Given the description of an element on the screen output the (x, y) to click on. 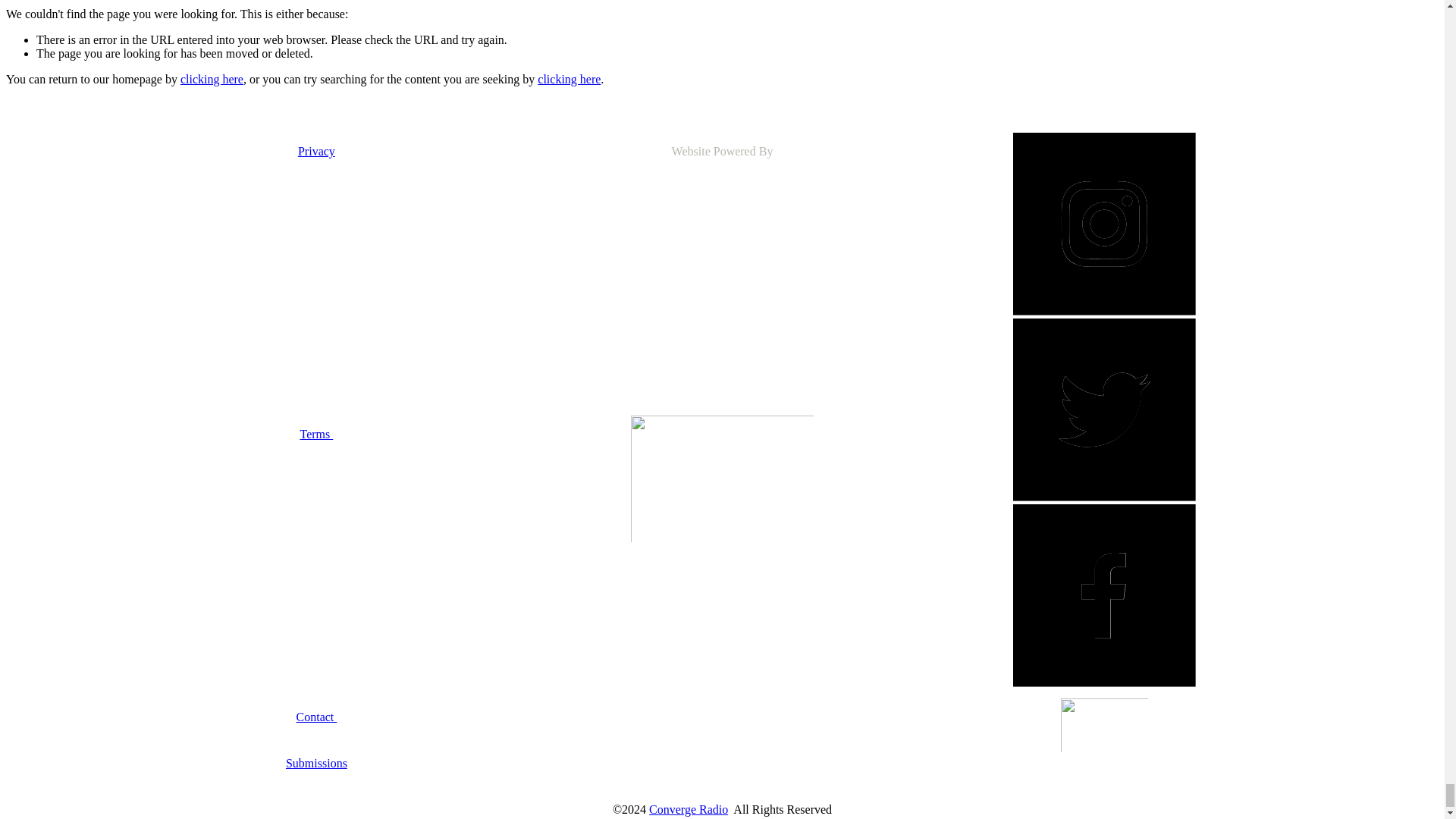
Converge Radio (688, 809)
clicking here (211, 78)
clicking here (568, 78)
Privacy (316, 151)
